Given the description of an element on the screen output the (x, y) to click on. 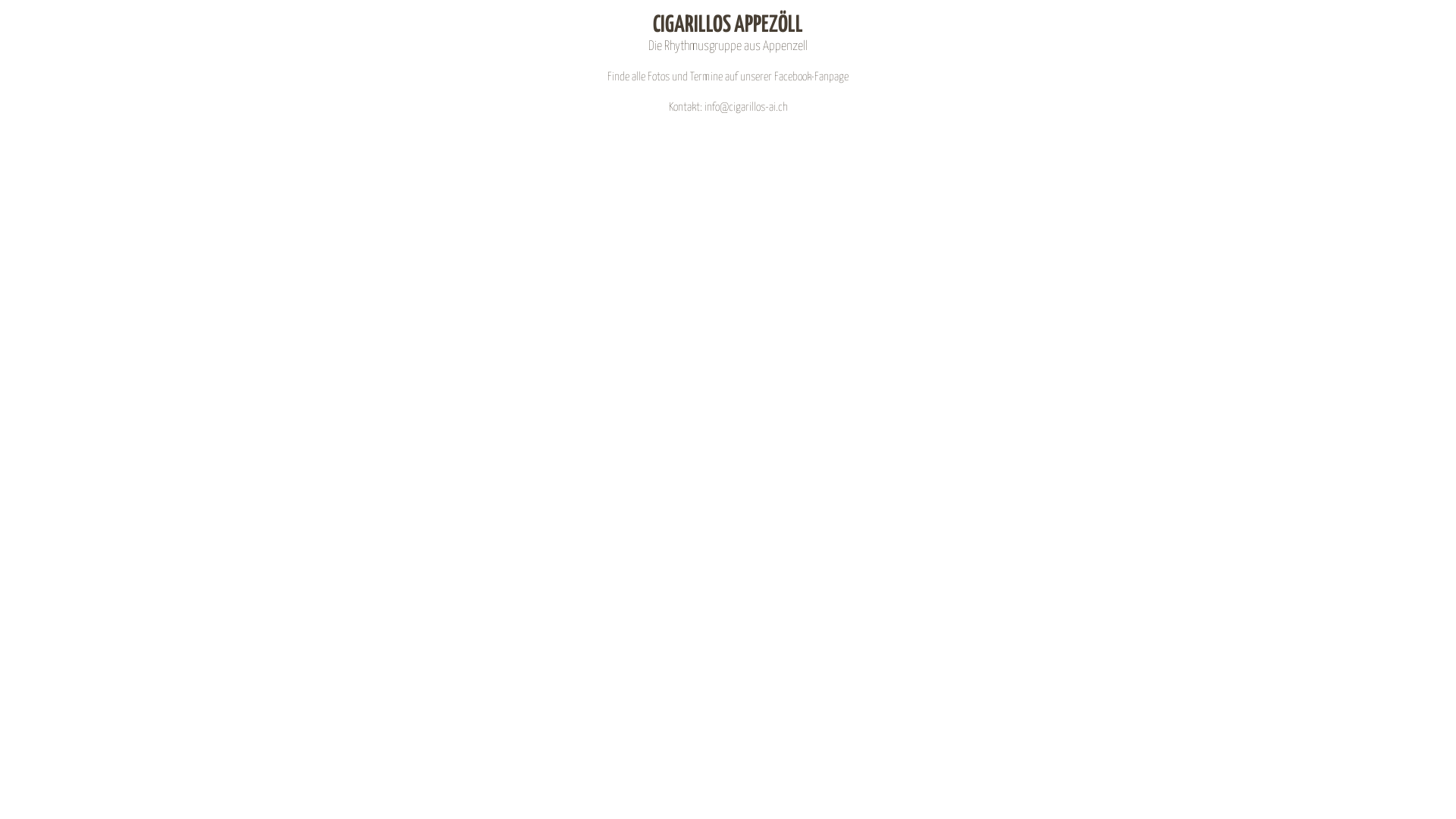
info@cigarillos-ai.ch Element type: text (745, 106)
